Given the description of an element on the screen output the (x, y) to click on. 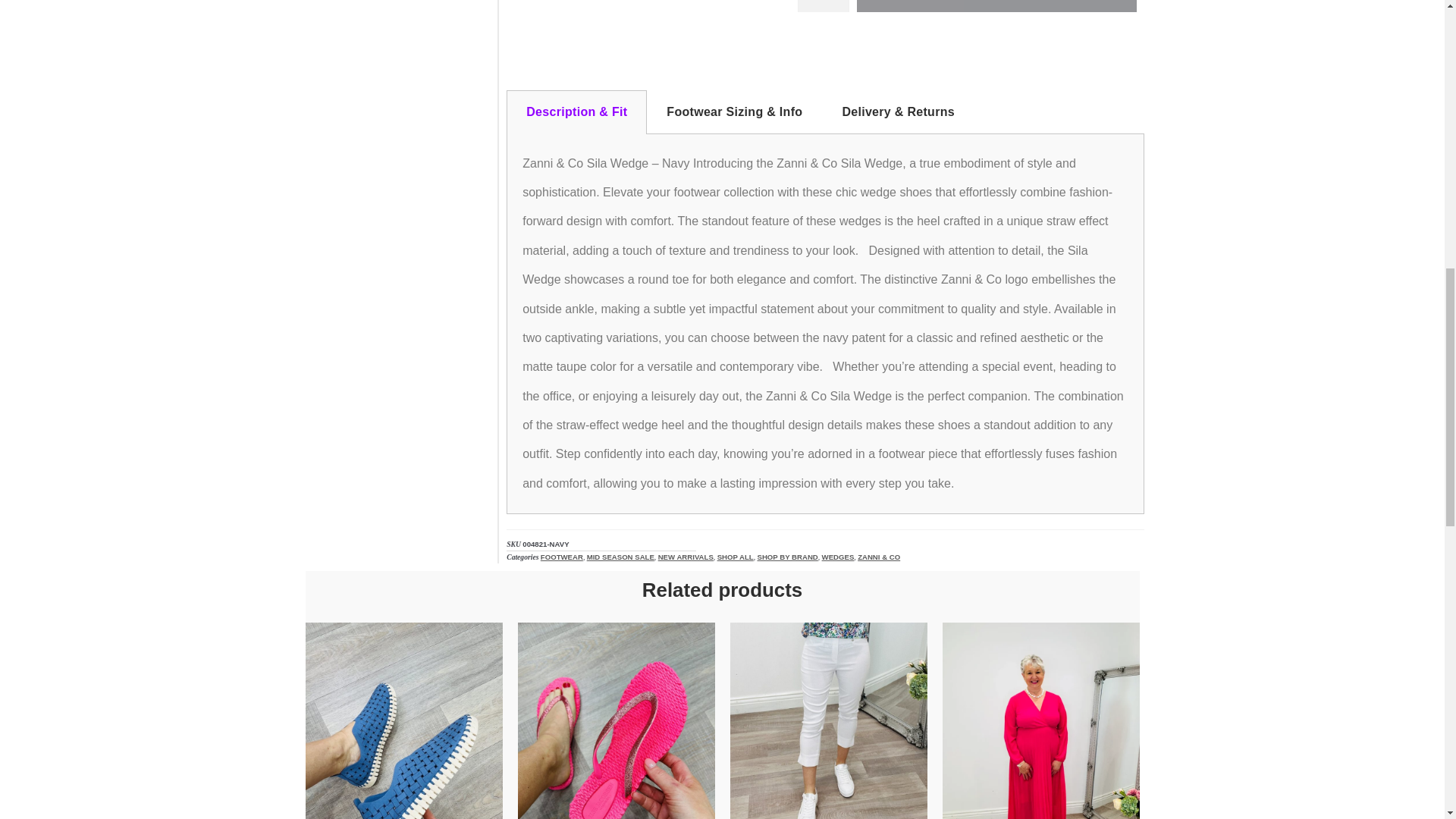
1 (822, 6)
PayPal (966, 45)
